Given the description of an element on the screen output the (x, y) to click on. 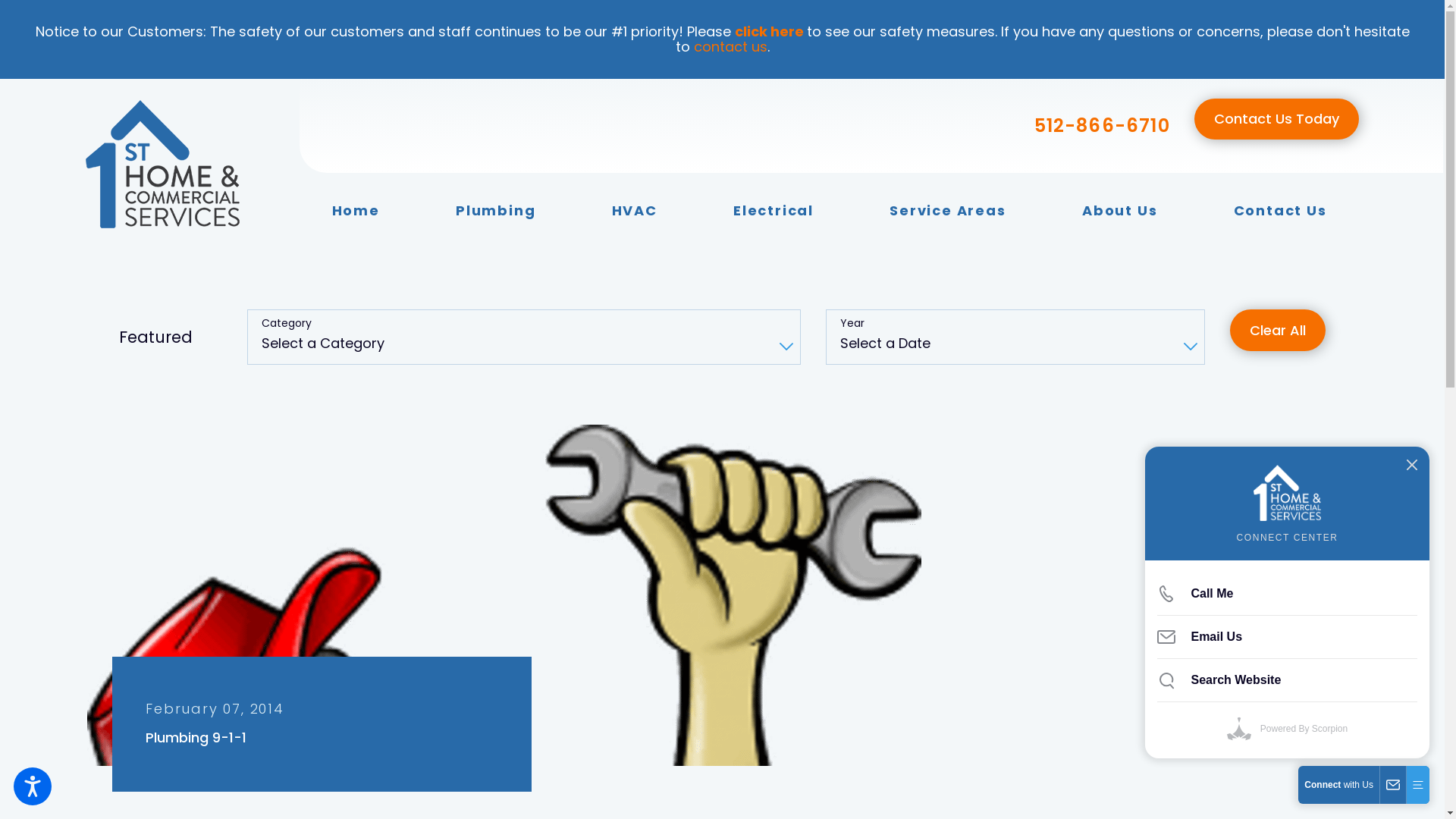
click here Element type: text (768, 30)
Electrical Element type: text (773, 210)
Contact Us Element type: text (1280, 210)
February 07, 2014
Plumbing 9-1-1 Element type: text (321, 723)
HVAC Element type: text (634, 210)
Plumbing Element type: text (495, 210)
Email Us Element type: text (1287, 636)
512-866-6710 Element type: text (1102, 125)
About Us Element type: text (1119, 210)
1st Home & Commercial Services Element type: hover (161, 164)
Service Areas Element type: text (947, 210)
Open the accessibility options menu Element type: hover (32, 786)
Clear All Element type: text (1277, 330)
Home Element type: text (355, 210)
Powered By Scorpion Element type: text (1286, 728)
Contact Us Today Element type: text (1276, 119)
Search Website Element type: text (1287, 679)
contact us Element type: text (729, 46)
Call Me Element type: text (1287, 593)
